Given the description of an element on the screen output the (x, y) to click on. 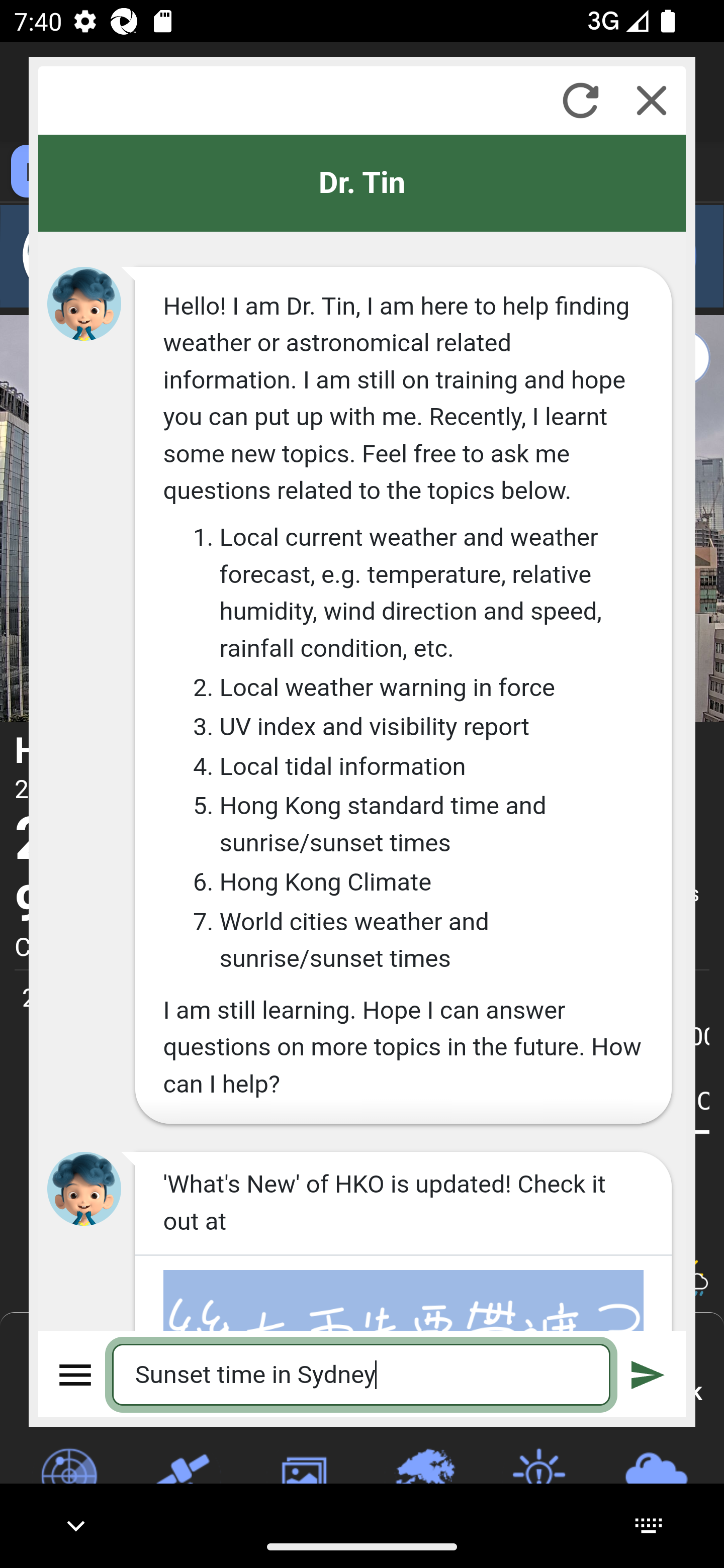
Refresh (580, 100)
Close (651, 100)
Menu (75, 1374)
Submit (648, 1374)
Sunset time in Sydney (361, 1374)
